Given the description of an element on the screen output the (x, y) to click on. 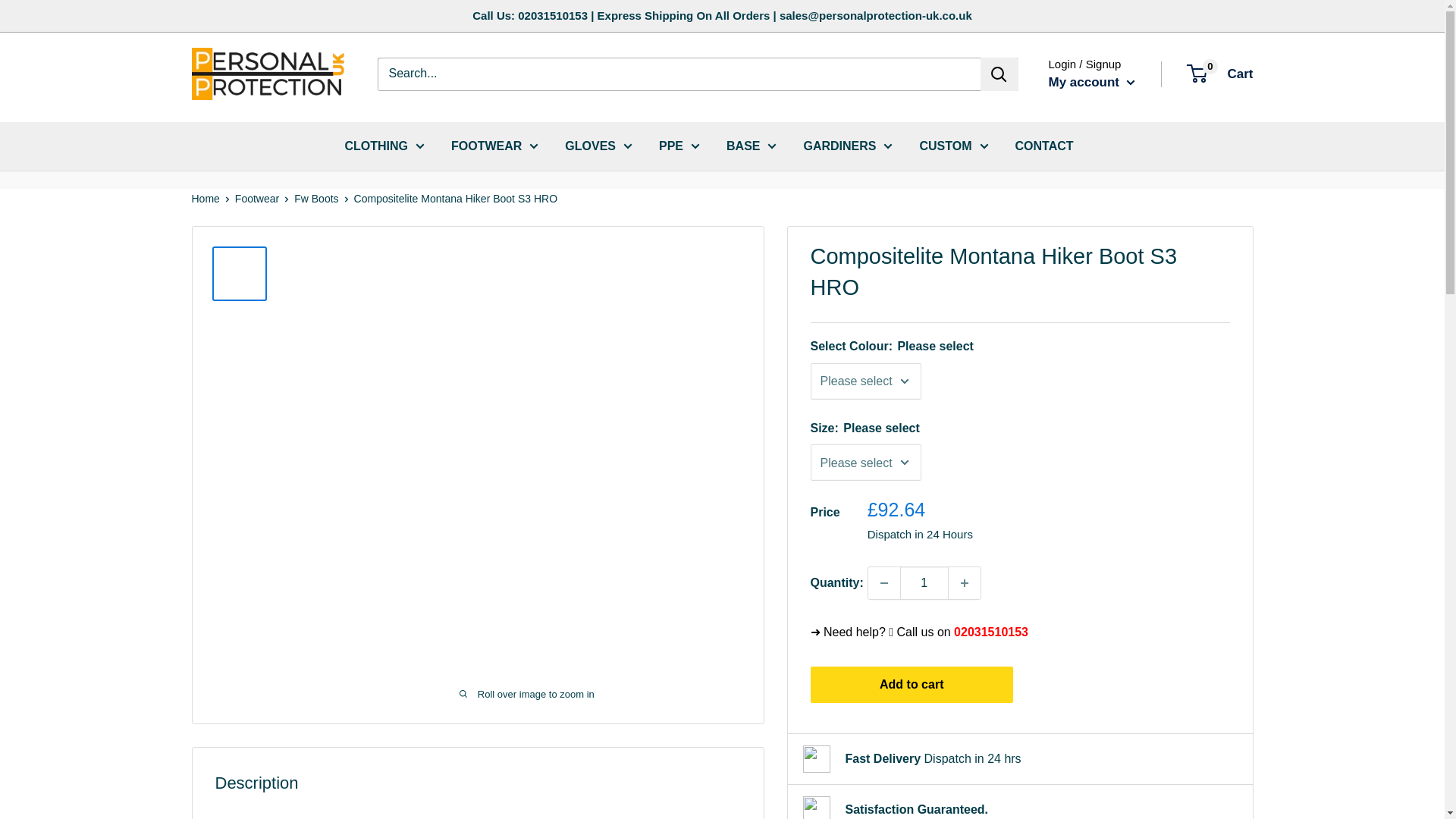
Decrease quantity by 1 (883, 582)
1 (924, 582)
Increase quantity by 1 (964, 582)
